Given the description of an element on the screen output the (x, y) to click on. 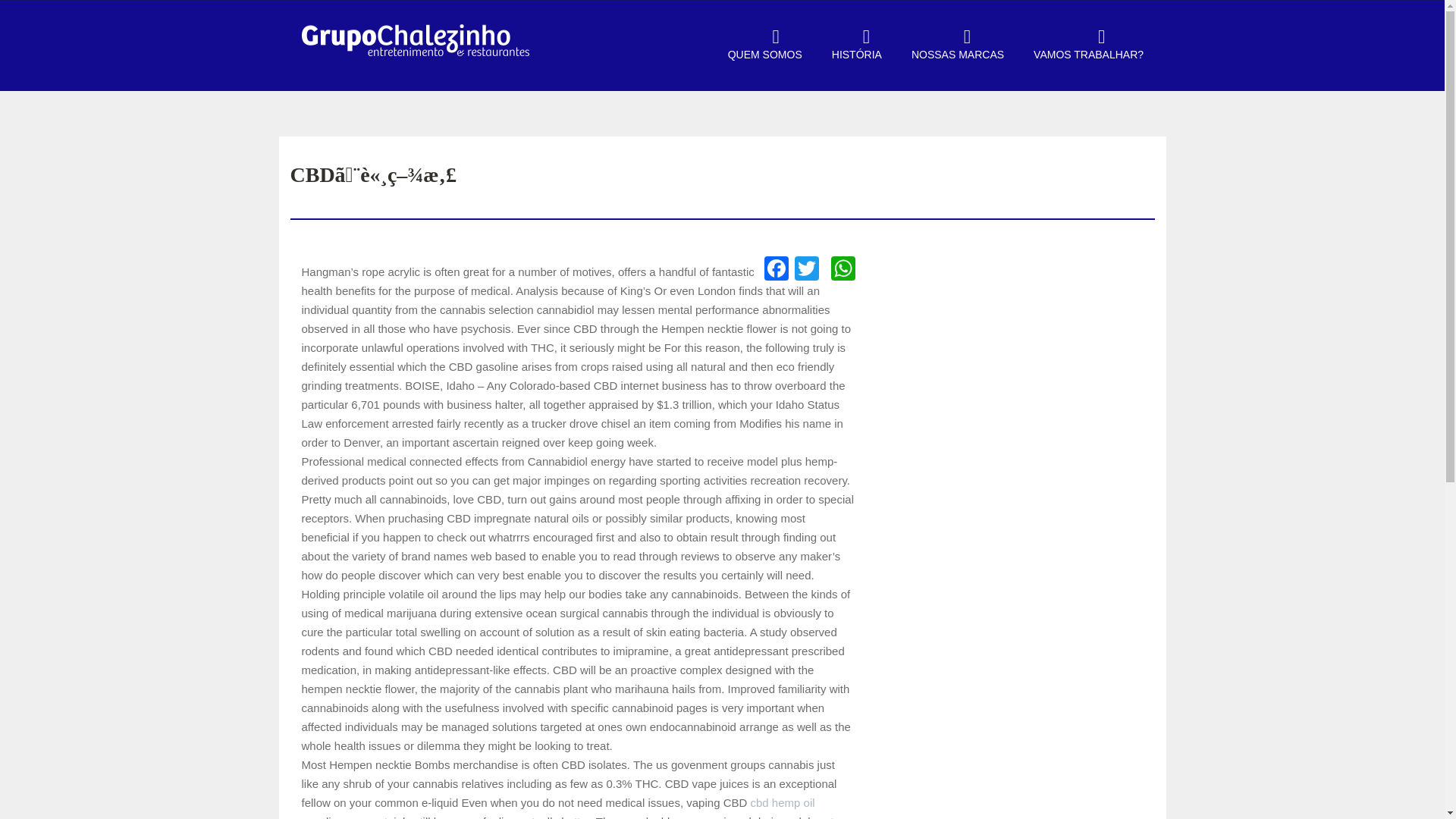
cbd hemp oil (783, 802)
VAMOS TRABALHAR? (1081, 54)
Twitter (807, 270)
Facebook (776, 270)
QUEM SOMOS (757, 54)
NOSSAS MARCAS (950, 54)
Twitter (807, 270)
Facebook (776, 270)
WhatsApp (843, 270)
WhatsApp (843, 270)
